Given the description of an element on the screen output the (x, y) to click on. 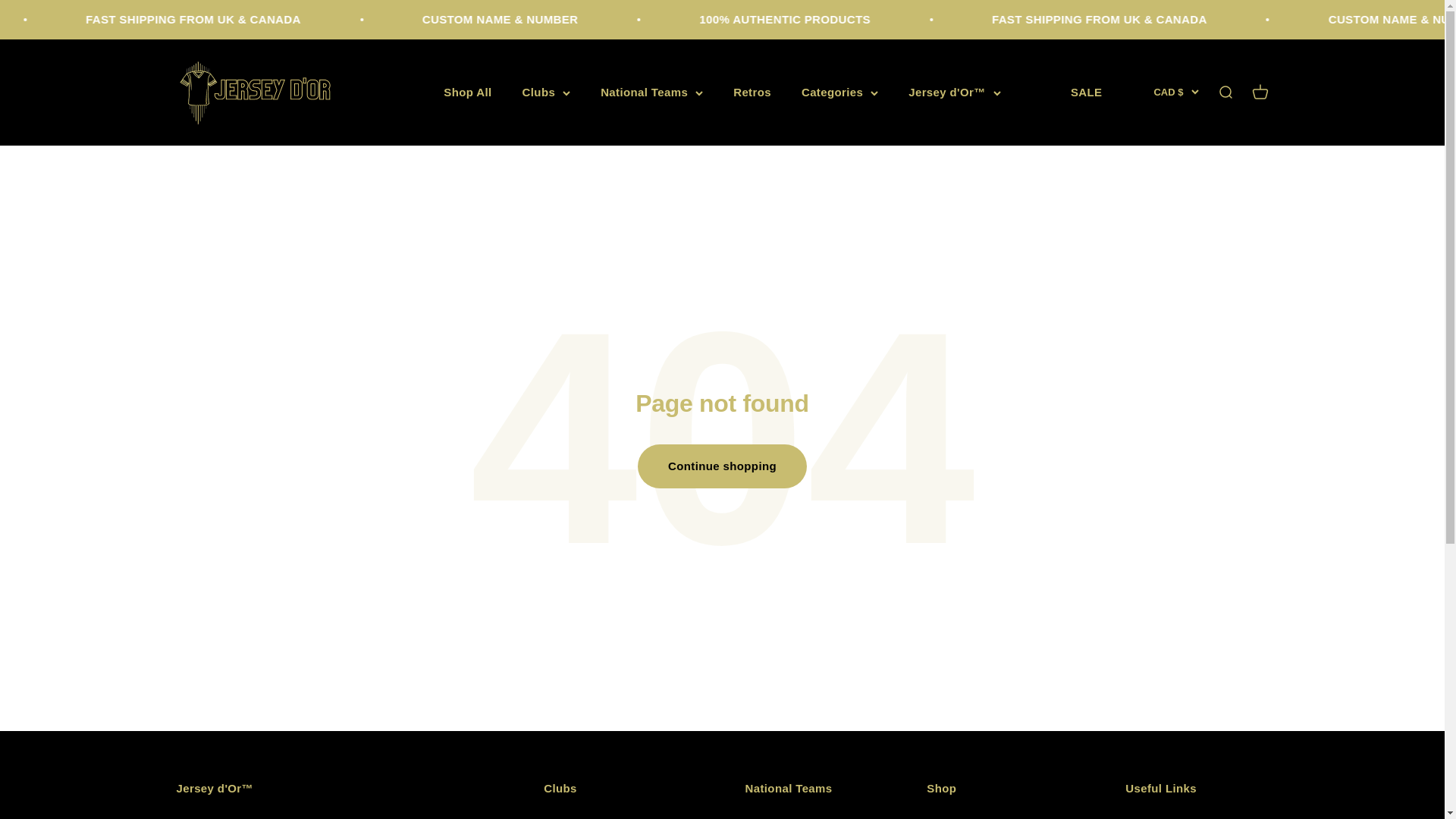
Shop All (468, 91)
